Given the description of an element on the screen output the (x, y) to click on. 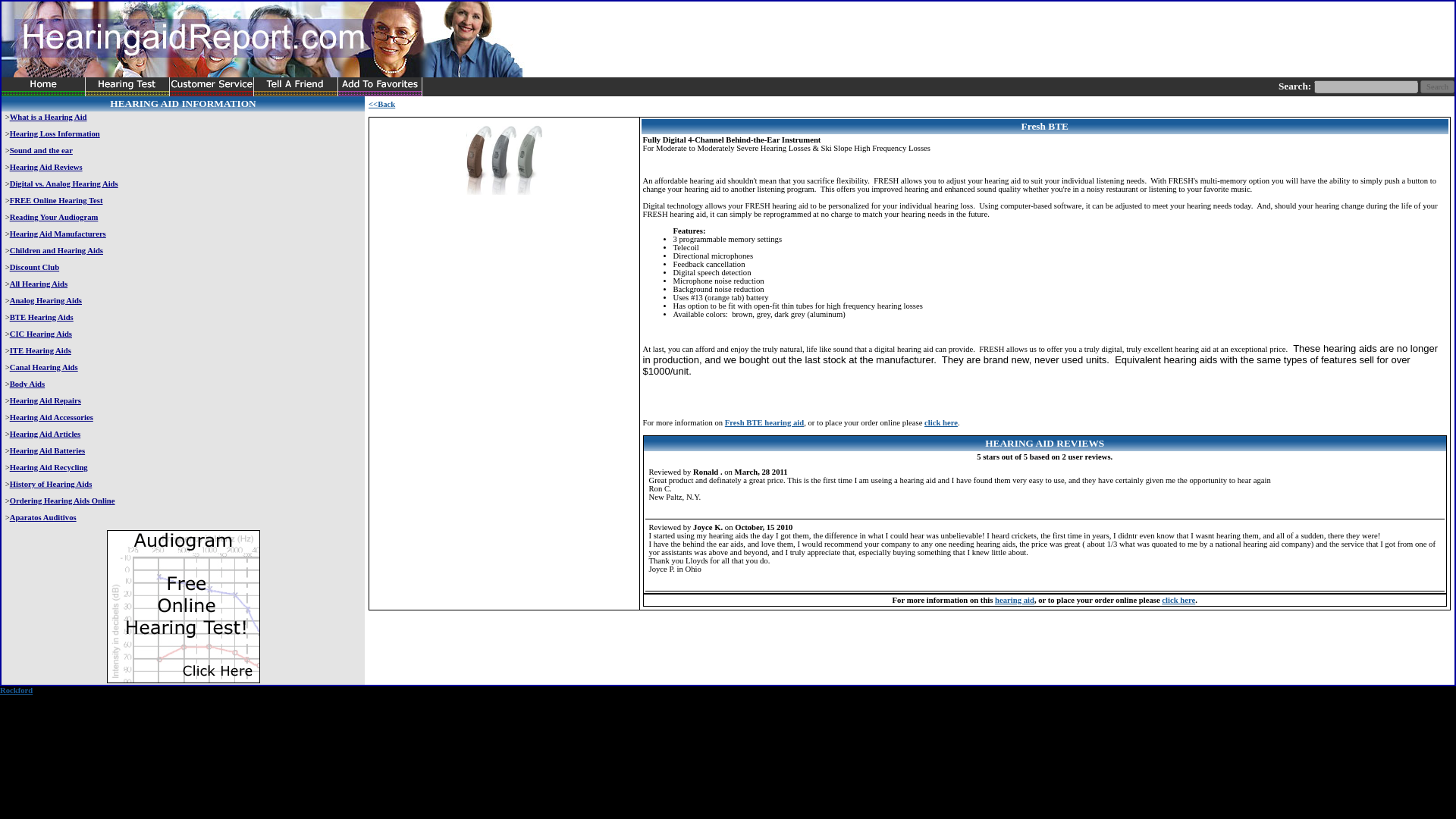
click here (1178, 600)
Search (1437, 86)
FREE Online Hearing Test (56, 200)
Children and Hearing Aids (56, 250)
hearing aid (1013, 600)
All Hearing Aids (38, 284)
Sound and the ear (41, 150)
Hearing Aid Reviews (46, 166)
5 (683, 580)
BTE Hearing Aids (42, 316)
